Given the description of an element on the screen output the (x, y) to click on. 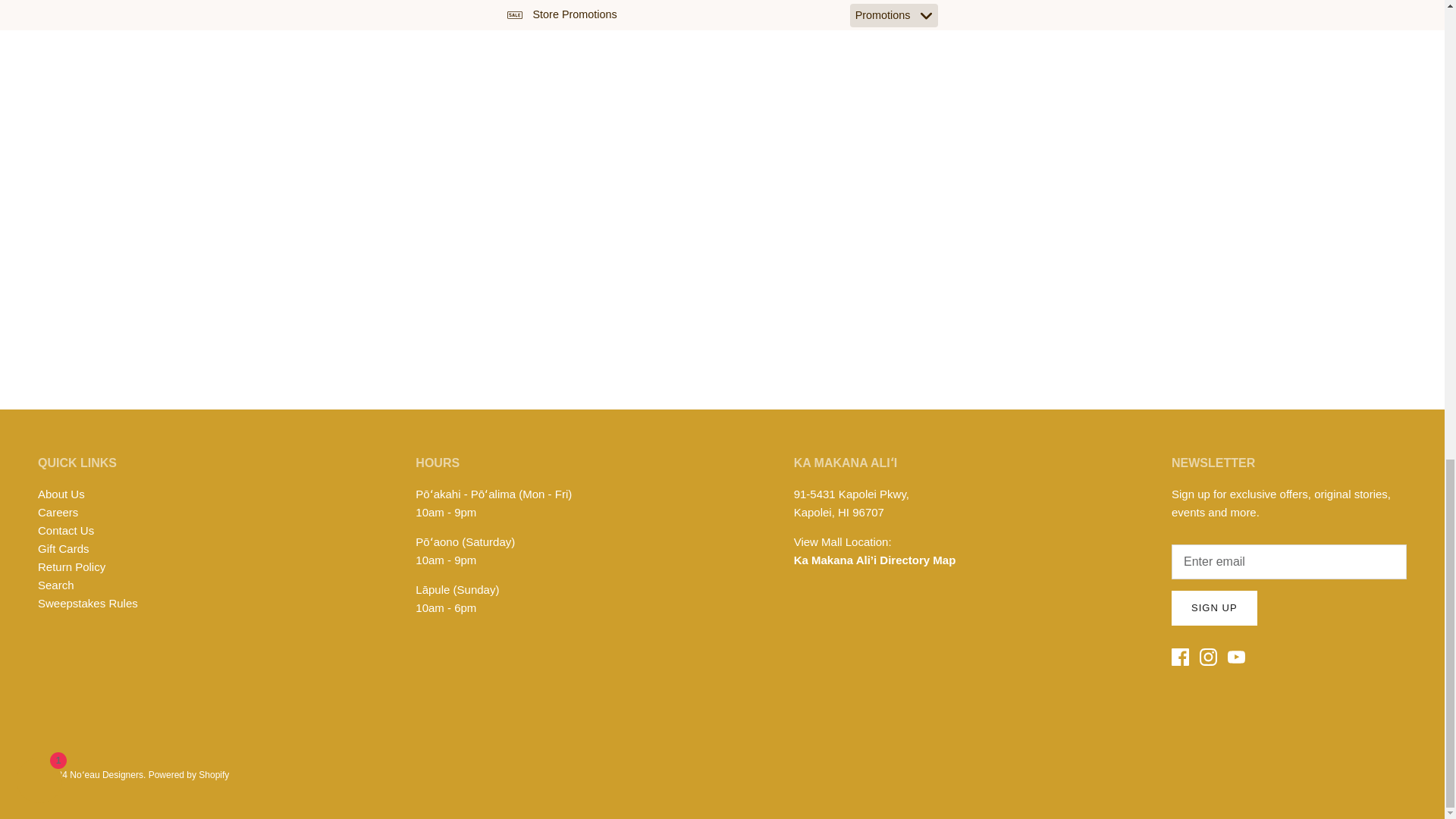
Halloween Sweepstakes Rules (87, 603)
Facebook (1180, 656)
Youtube (1235, 656)
Instagram (1208, 656)
